Given the description of an element on the screen output the (x, y) to click on. 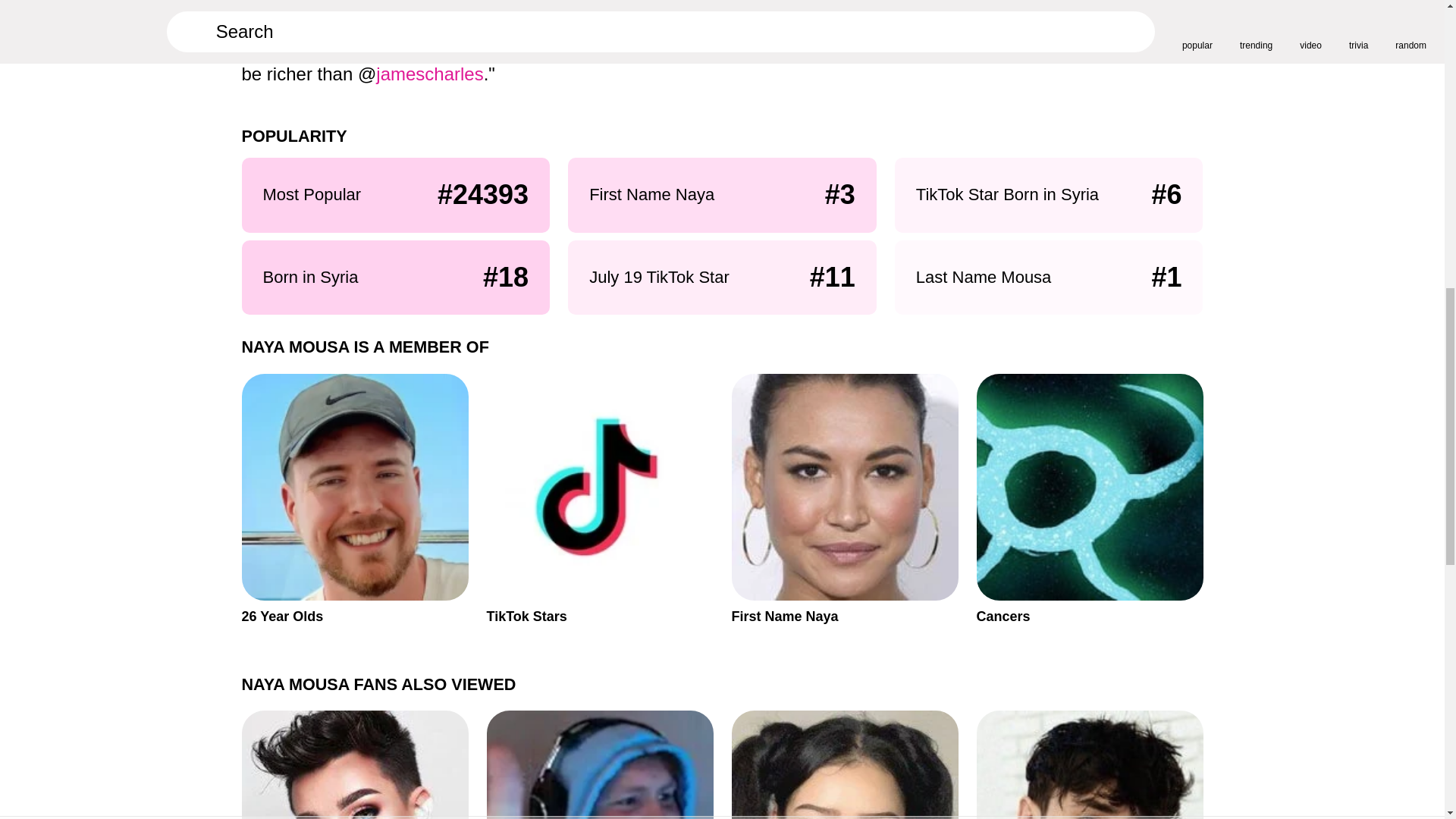
jamescharles (429, 73)
26 Year Olds (354, 498)
First Name Naya (844, 498)
Cancers (1090, 498)
TikTok Stars (1090, 764)
